Given the description of an element on the screen output the (x, y) to click on. 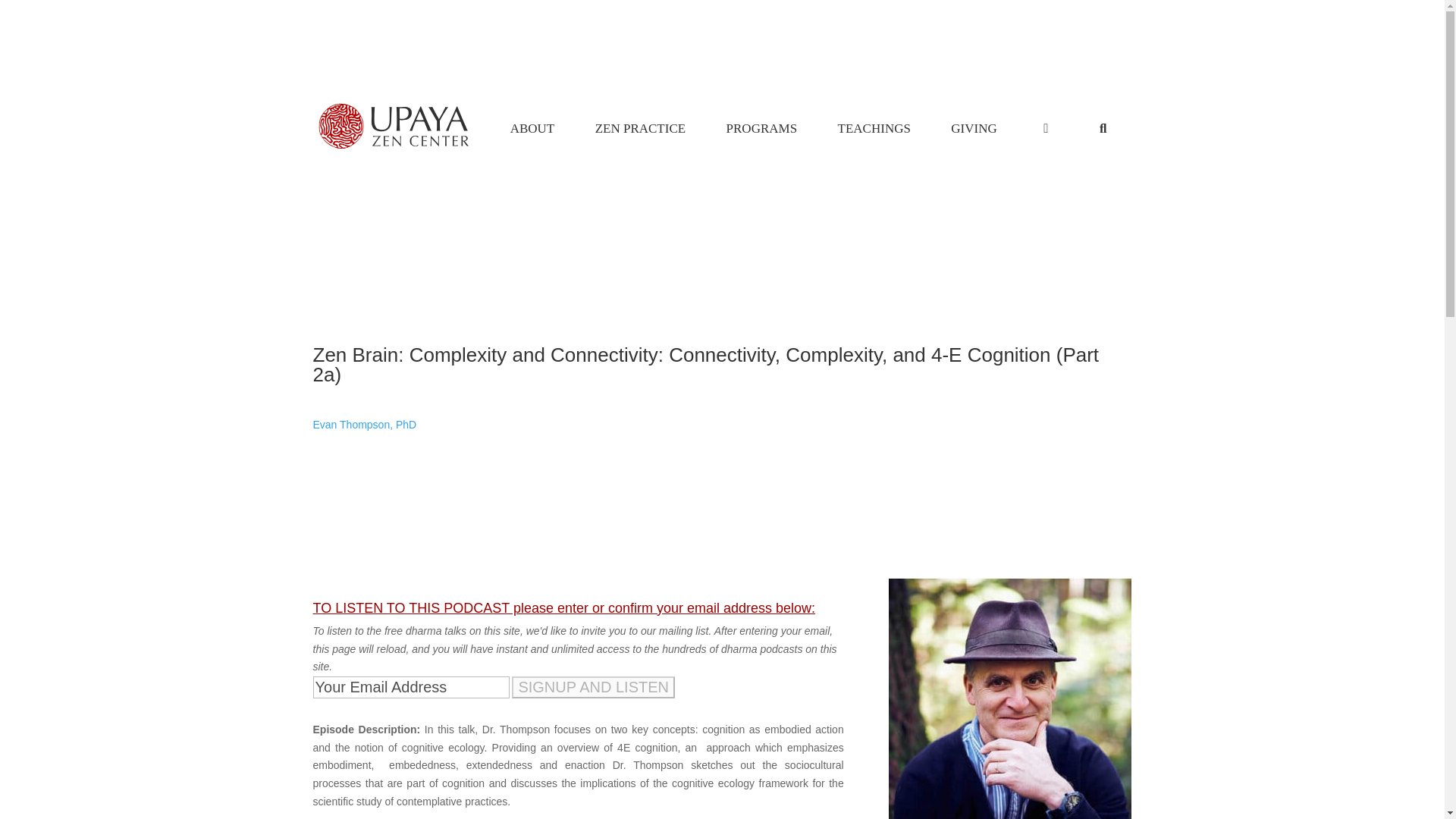
ZEN PRACTICE (640, 128)
Your Email Address (410, 687)
TEACHINGS (722, 128)
PROGRAMS (873, 128)
Signup and Listen (761, 128)
GIVING (593, 687)
ABOUT (974, 128)
